Given the description of an element on the screen output the (x, y) to click on. 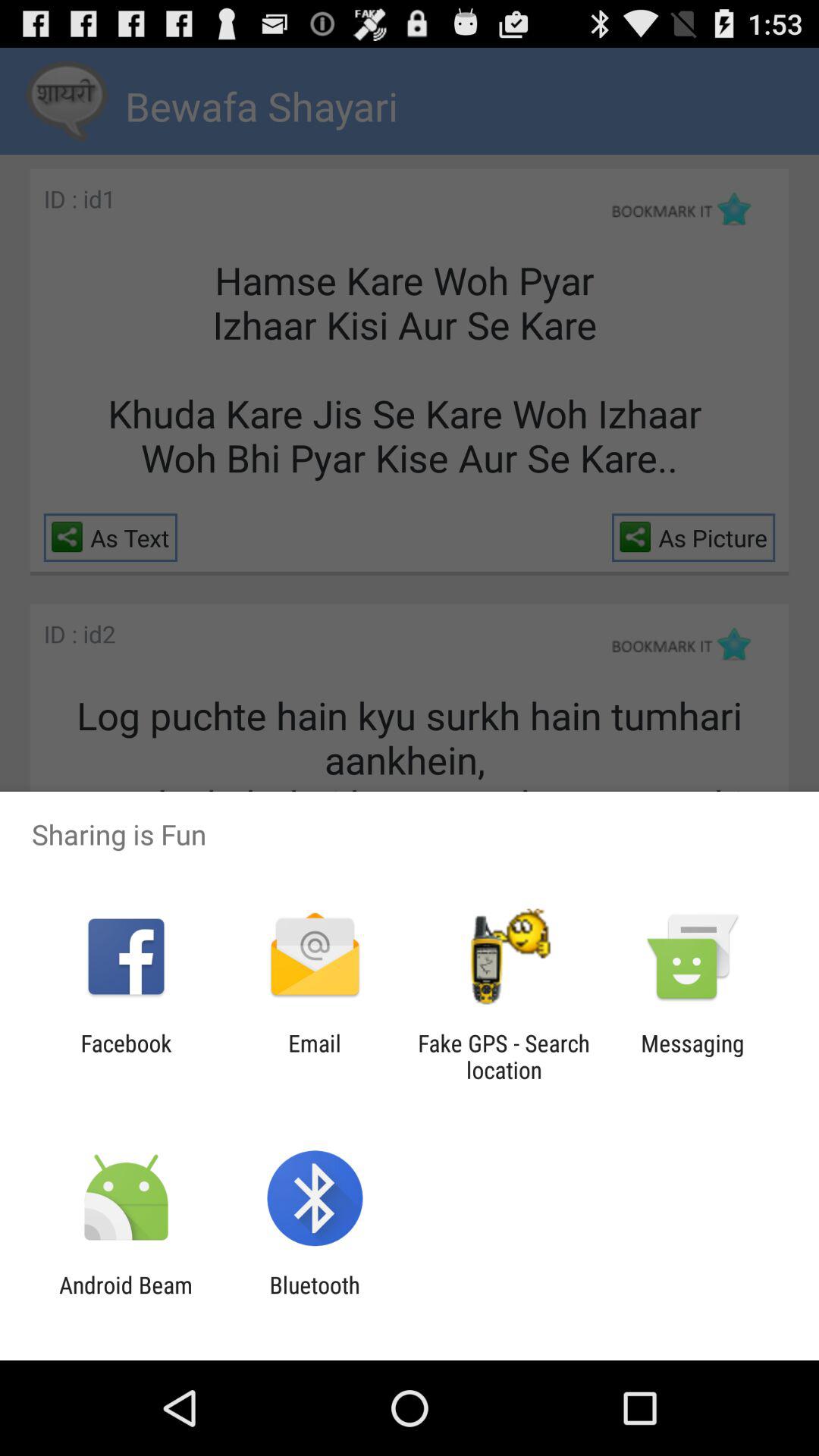
click fake gps search app (503, 1056)
